Given the description of an element on the screen output the (x, y) to click on. 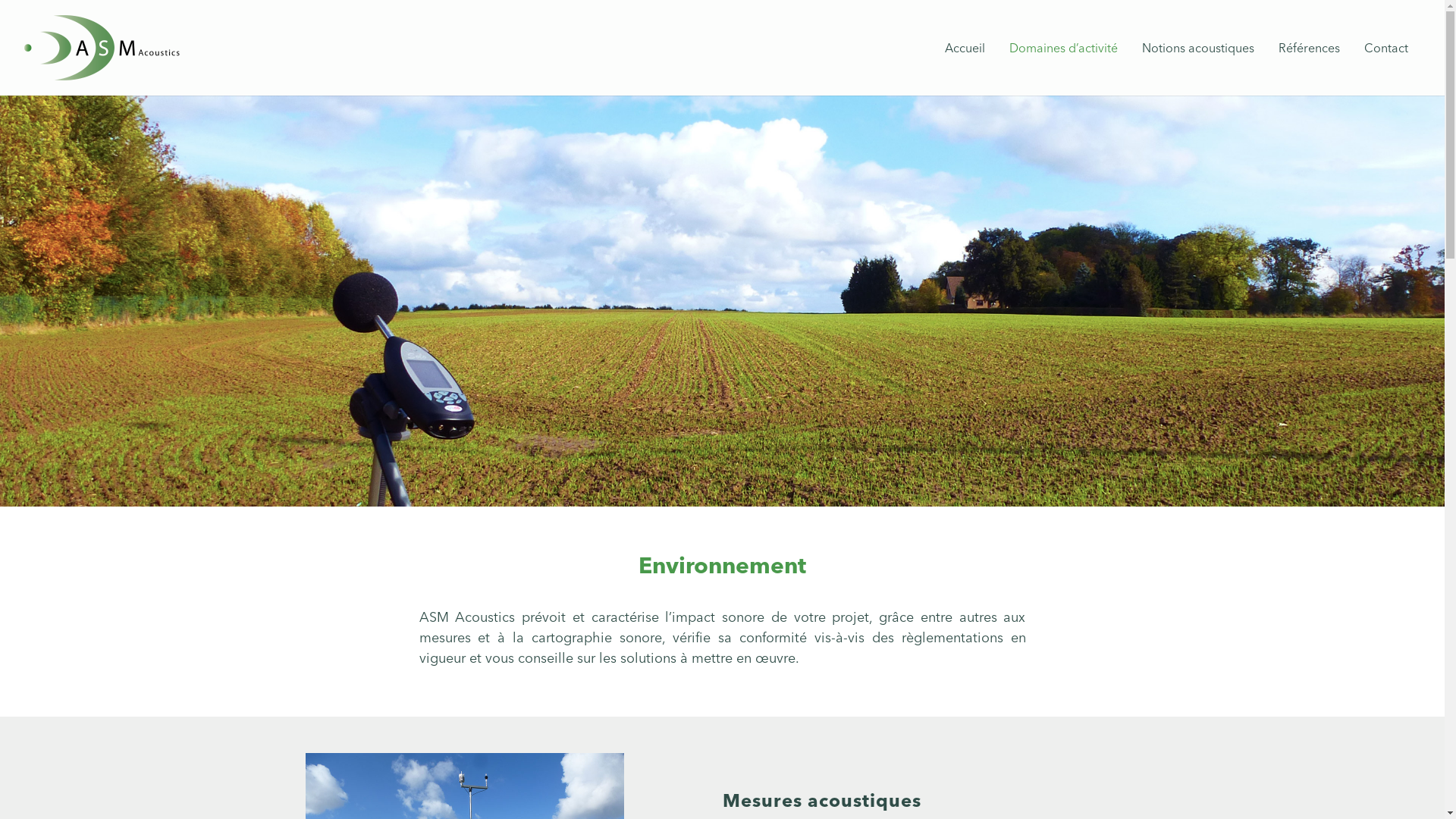
Contact Element type: text (1386, 47)
Notions acoustiques Element type: text (1197, 47)
Accueil Element type: text (964, 47)
